Given the description of an element on the screen output the (x, y) to click on. 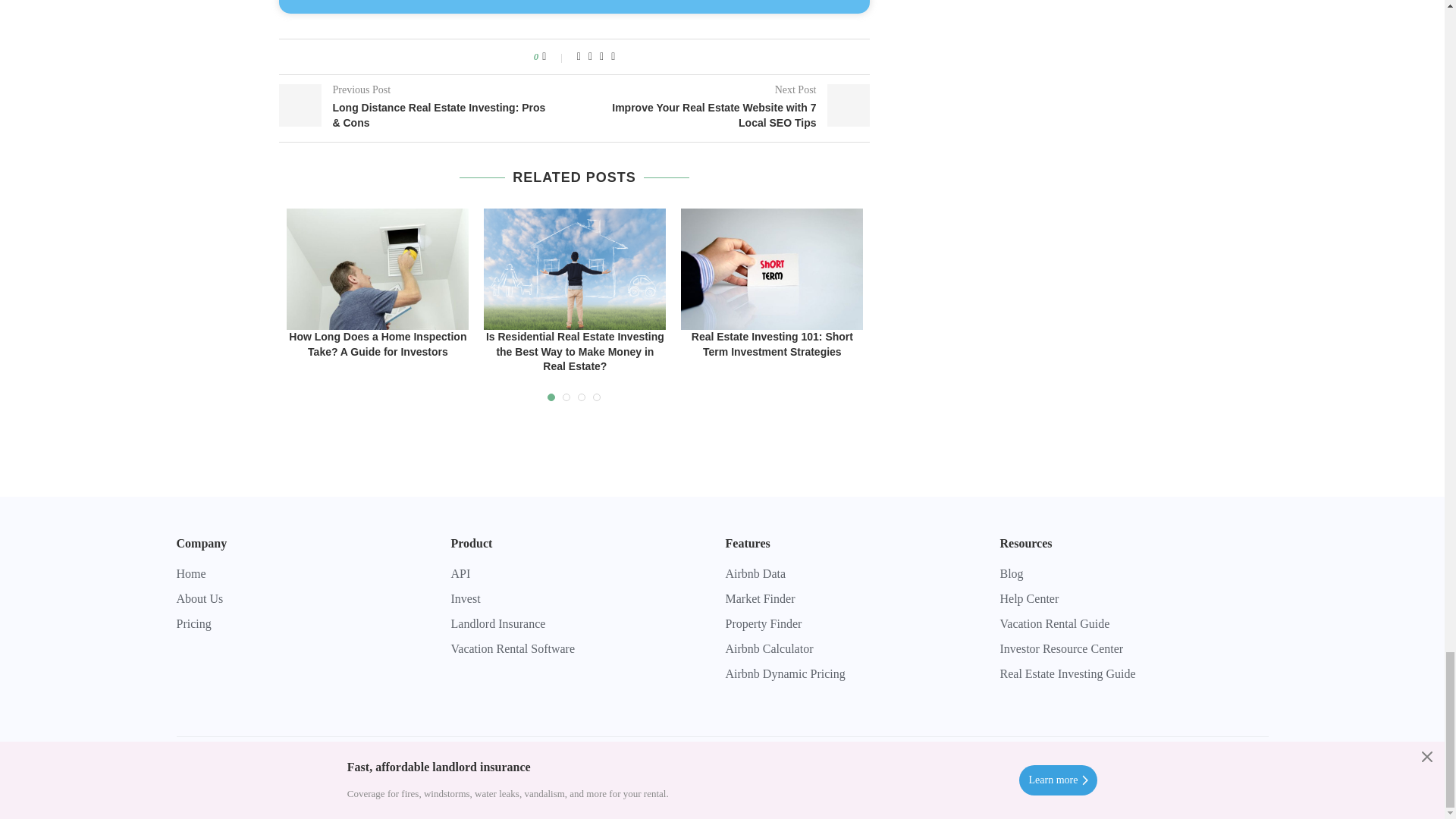
How Long Does a Home Inspection Take? A Guide for Investors (377, 269)
Like (553, 56)
Real Estate Investing 101: Short Term Investment Strategies (772, 269)
